Given the description of an element on the screen output the (x, y) to click on. 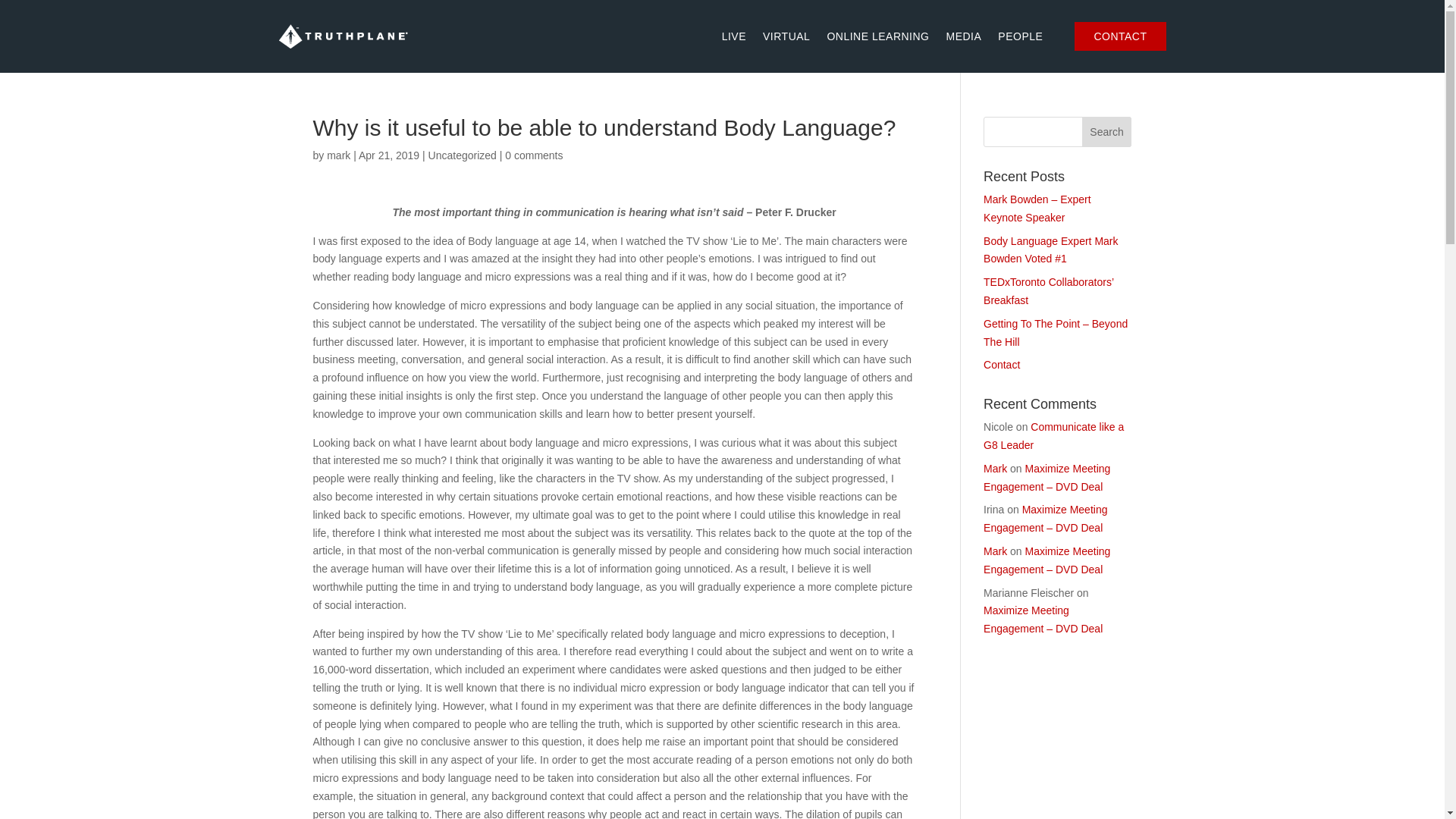
Posts by mark (338, 155)
Search (1106, 132)
Contact (1002, 364)
mark (338, 155)
Communicate like a G8 Leader (1054, 435)
Uncategorized (462, 155)
Mark (995, 468)
ONLINE LEARNING (877, 36)
PEOPLE (1027, 36)
Mark (995, 551)
